Given the description of an element on the screen output the (x, y) to click on. 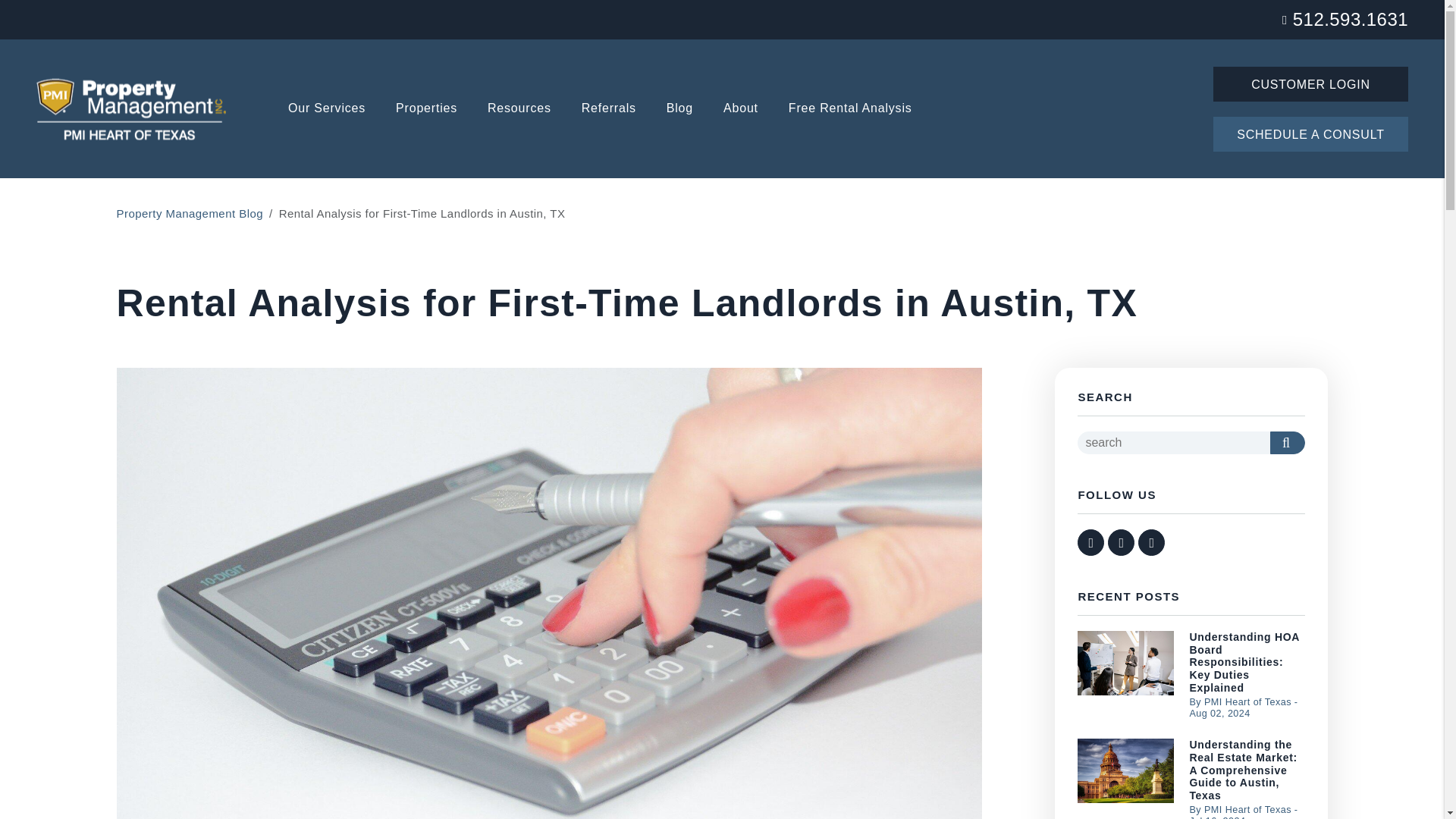
512.593.1631 (1349, 19)
CUSTOMER LOGIN (1309, 83)
SCHEDULE A CONSULT (1309, 134)
Our Services (326, 108)
